Given the description of an element on the screen output the (x, y) to click on. 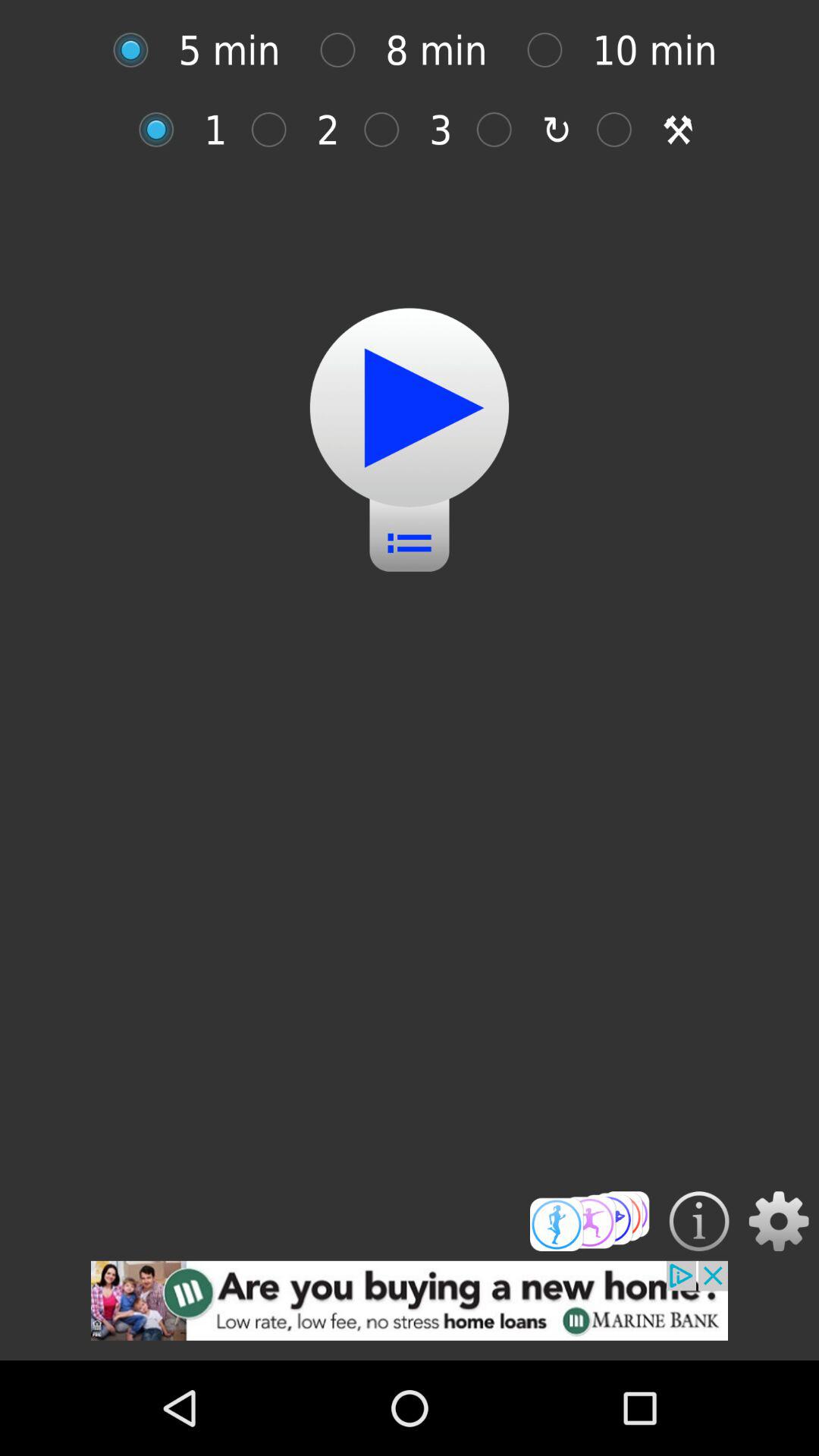
go to pause (409, 407)
